Given the description of an element on the screen output the (x, y) to click on. 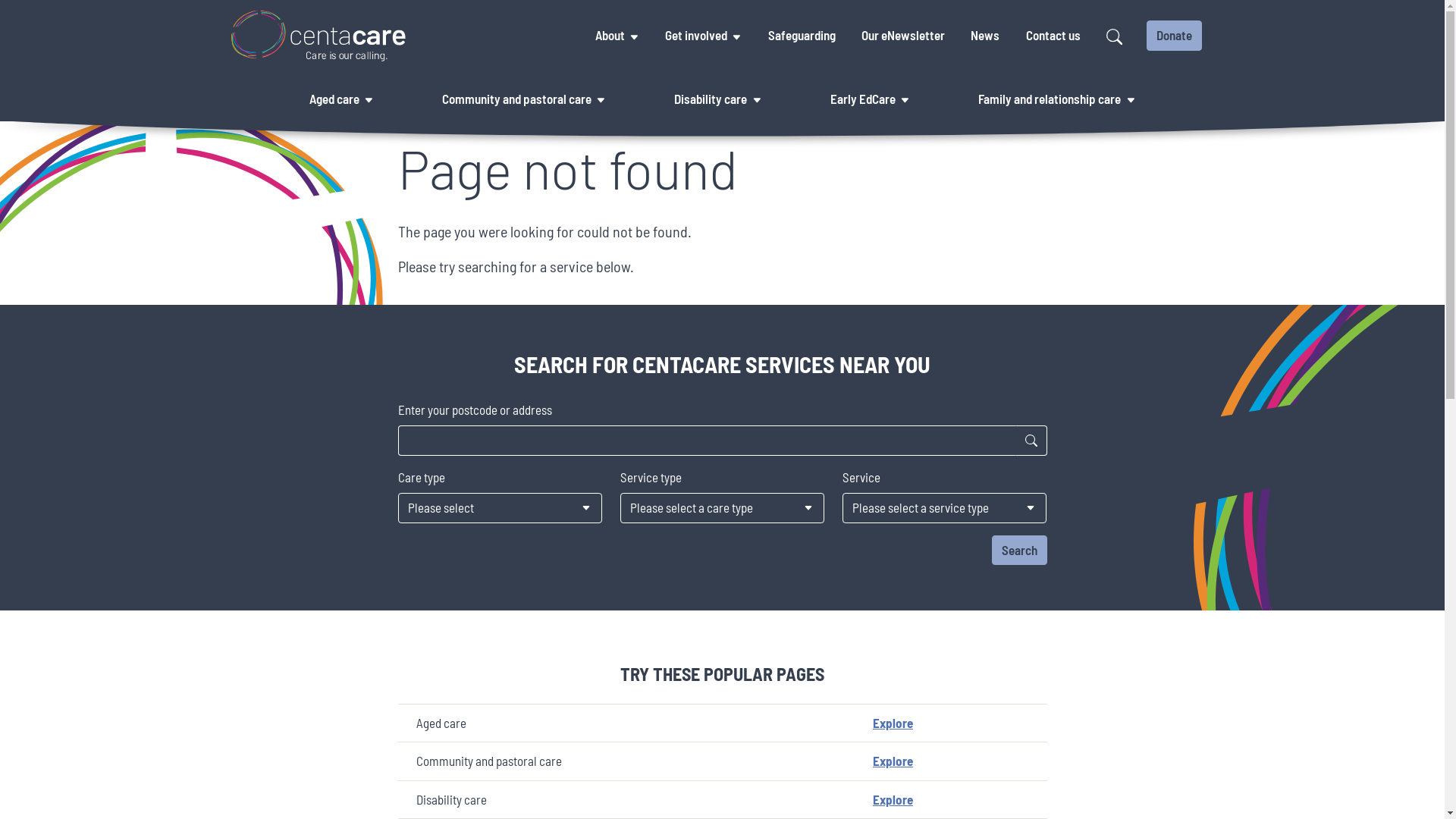
Family and relationship care Element type: text (1049, 99)
Our eNewsletter Element type: text (903, 35)
Disability care Element type: text (710, 99)
Explore Element type: text (892, 760)
About Element type: text (609, 35)
Explore Element type: text (892, 722)
Community and pastoral care Element type: text (516, 99)
Aged care Element type: text (333, 99)
Get involved Element type: text (695, 35)
Explore Element type: text (892, 798)
Donate Element type: text (1173, 35)
Contact us Element type: text (1052, 35)
News Element type: text (984, 35)
Early EdCare Element type: text (862, 99)
Safeguarding Element type: text (801, 35)
Search Element type: text (1019, 550)
